Given the description of an element on the screen output the (x, y) to click on. 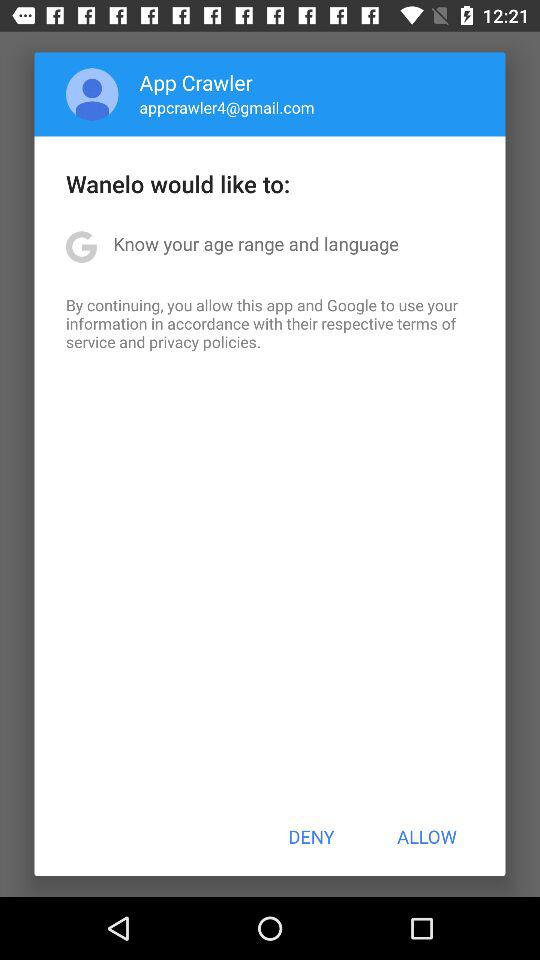
tap item to the left of the allow (311, 836)
